Given the description of an element on the screen output the (x, y) to click on. 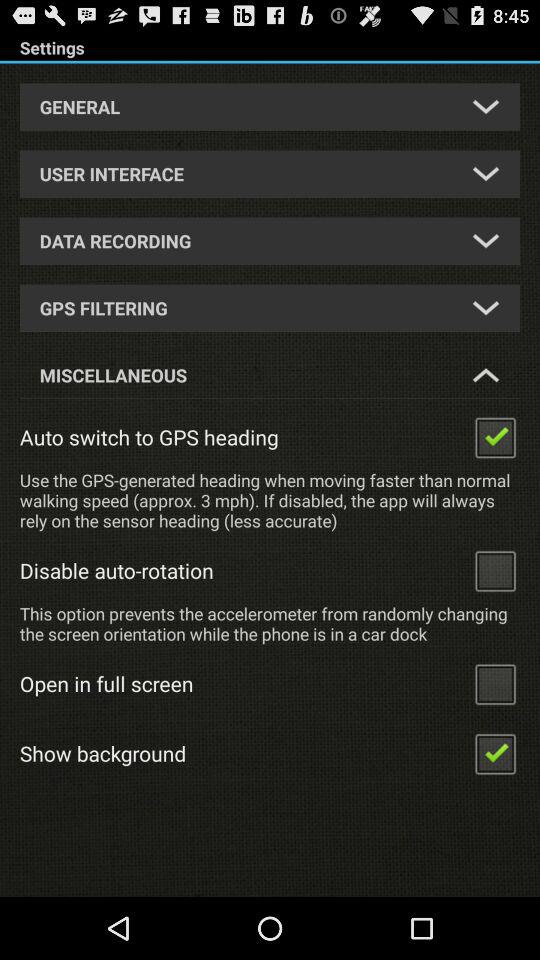
select option (495, 436)
